Given the description of an element on the screen output the (x, y) to click on. 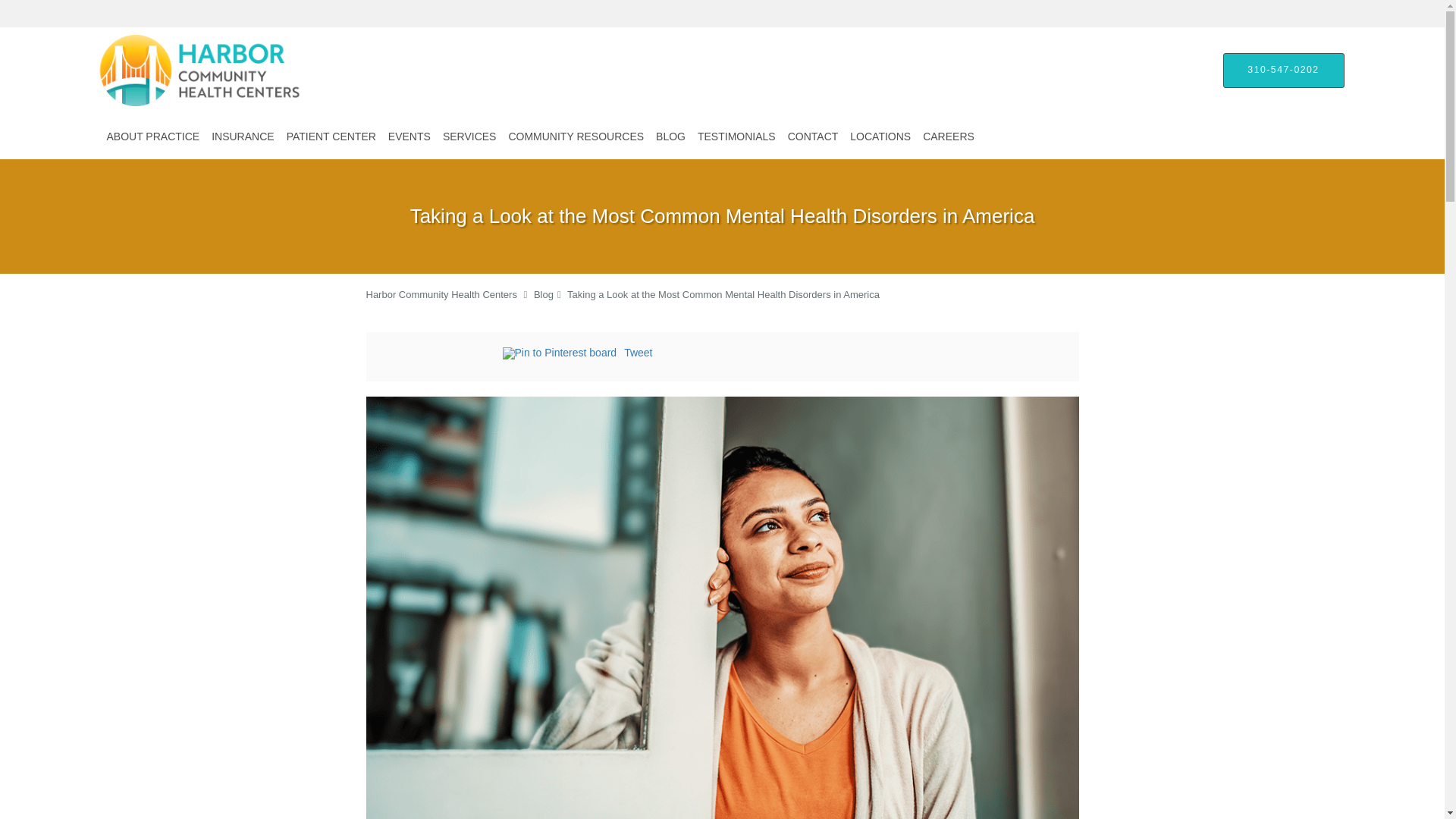
Harbor Community Health Centers (440, 294)
ABOUT PRACTICE (152, 136)
SERVICES (469, 136)
BLOG (670, 136)
Facebook social button (441, 355)
LOCATIONS (880, 136)
EVENTS (408, 136)
TESTIMONIALS (736, 136)
310-547-0202 (1283, 70)
PATIENT CENTER (331, 136)
